Given the description of an element on the screen output the (x, y) to click on. 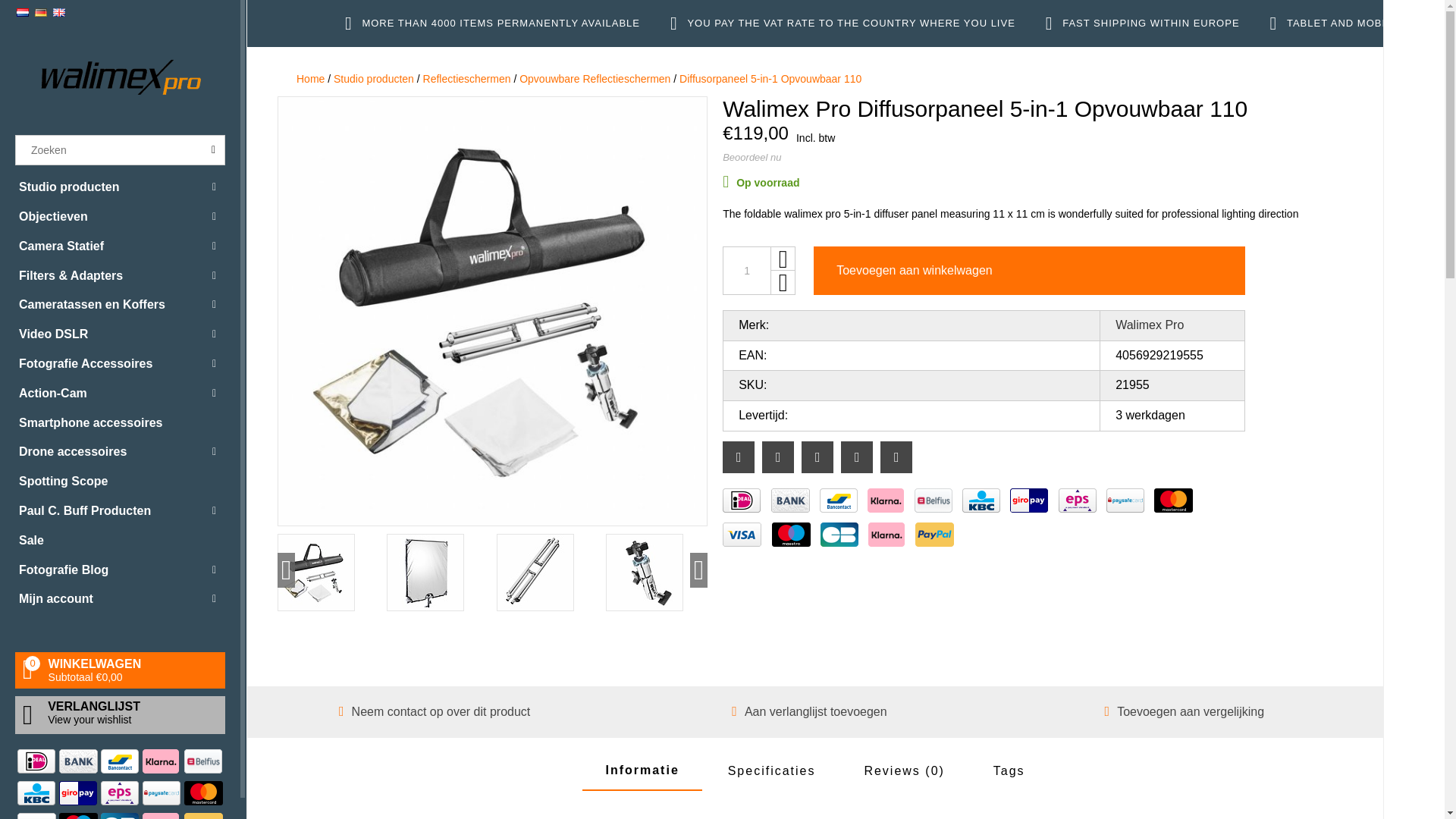
Studio producten (119, 187)
Nederlands (22, 12)
1 (746, 270)
English (58, 12)
Studio producten (119, 187)
Deutsch (40, 12)
